Given the description of an element on the screen output the (x, y) to click on. 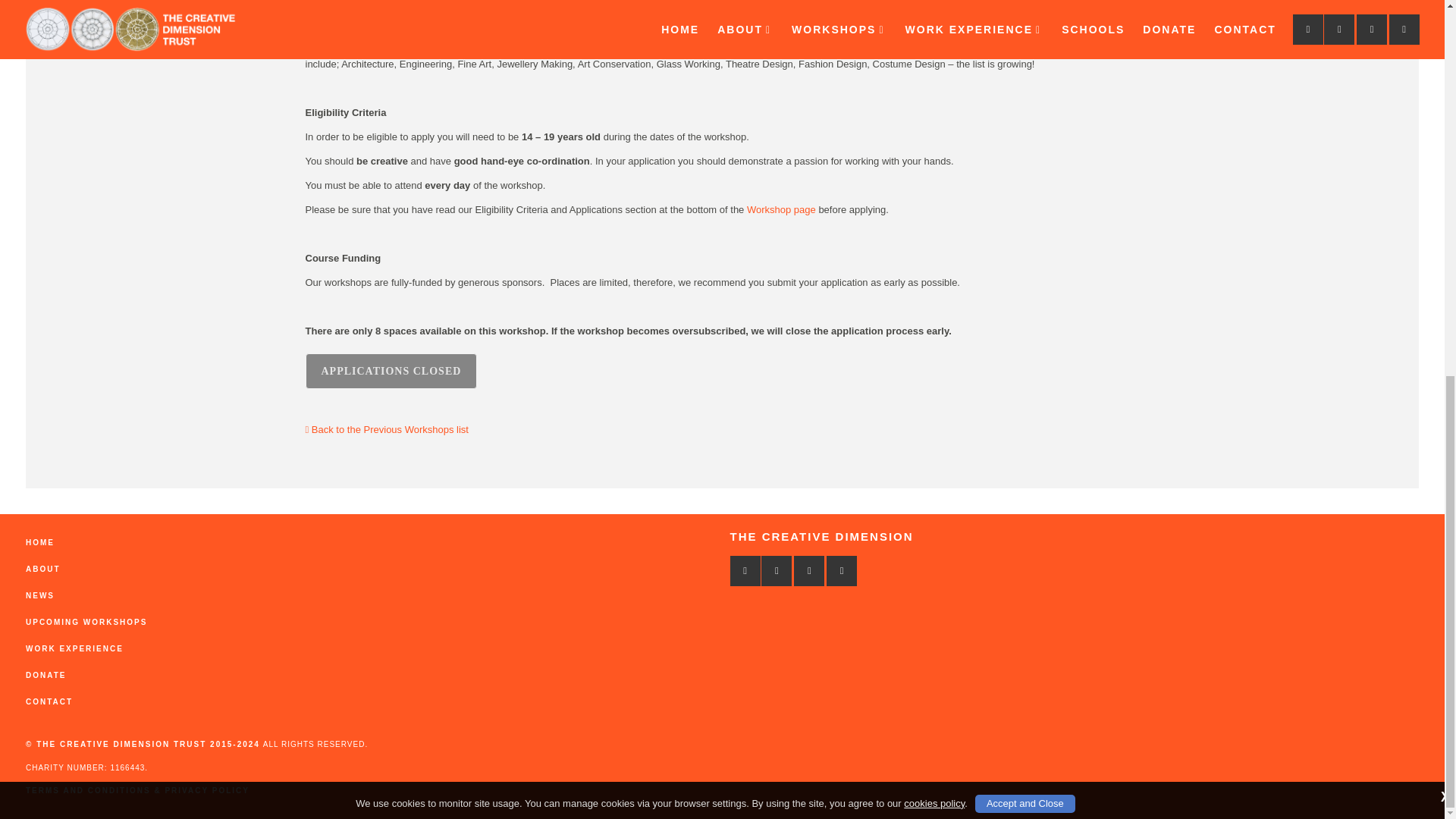
APPLICATIONS CLOSED (390, 370)
Workshop page (780, 209)
Back to the Previous Workshops list (386, 429)
